Given the description of an element on the screen output the (x, y) to click on. 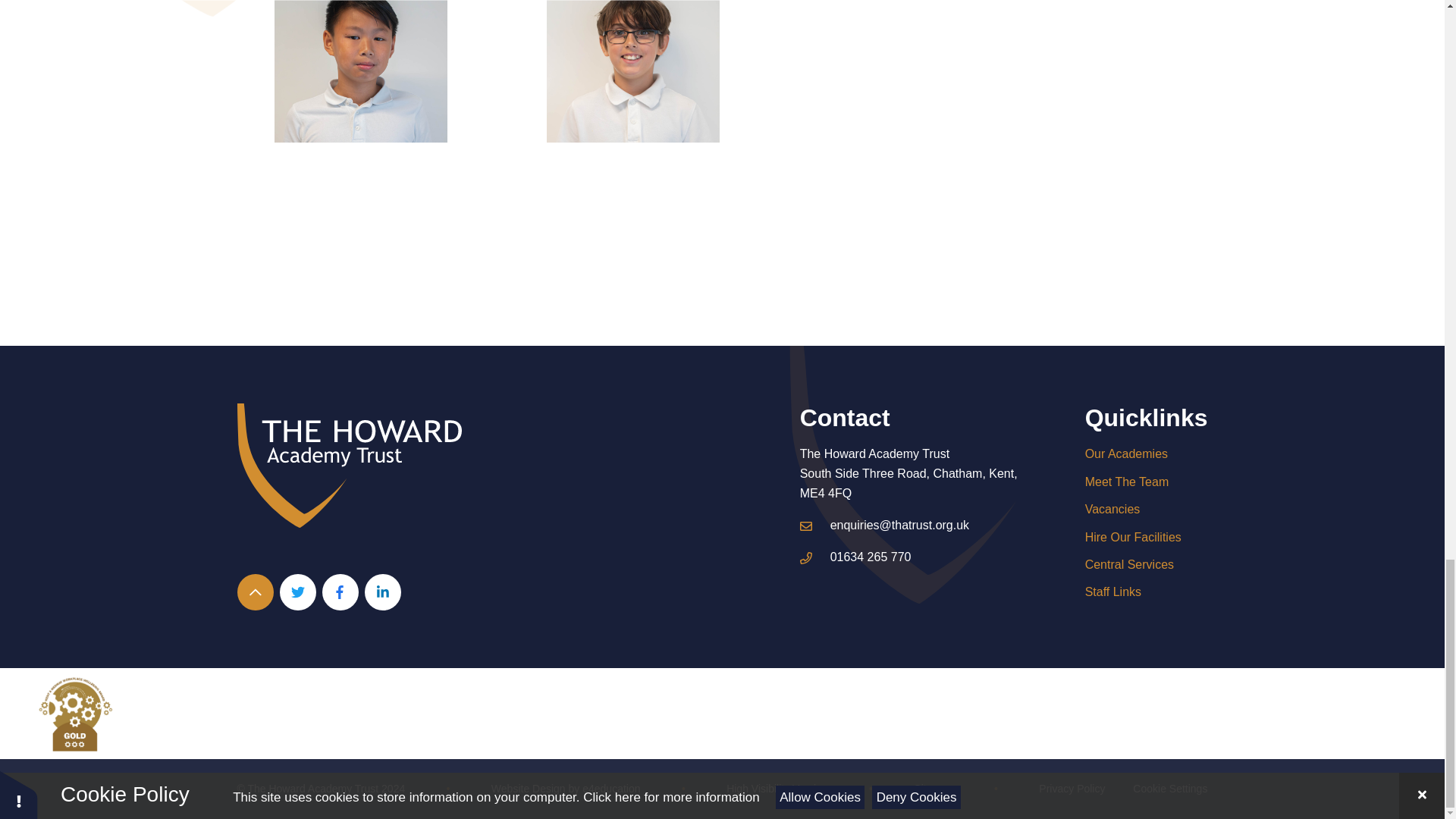
Cookie Settings (1169, 788)
